Given the description of an element on the screen output the (x, y) to click on. 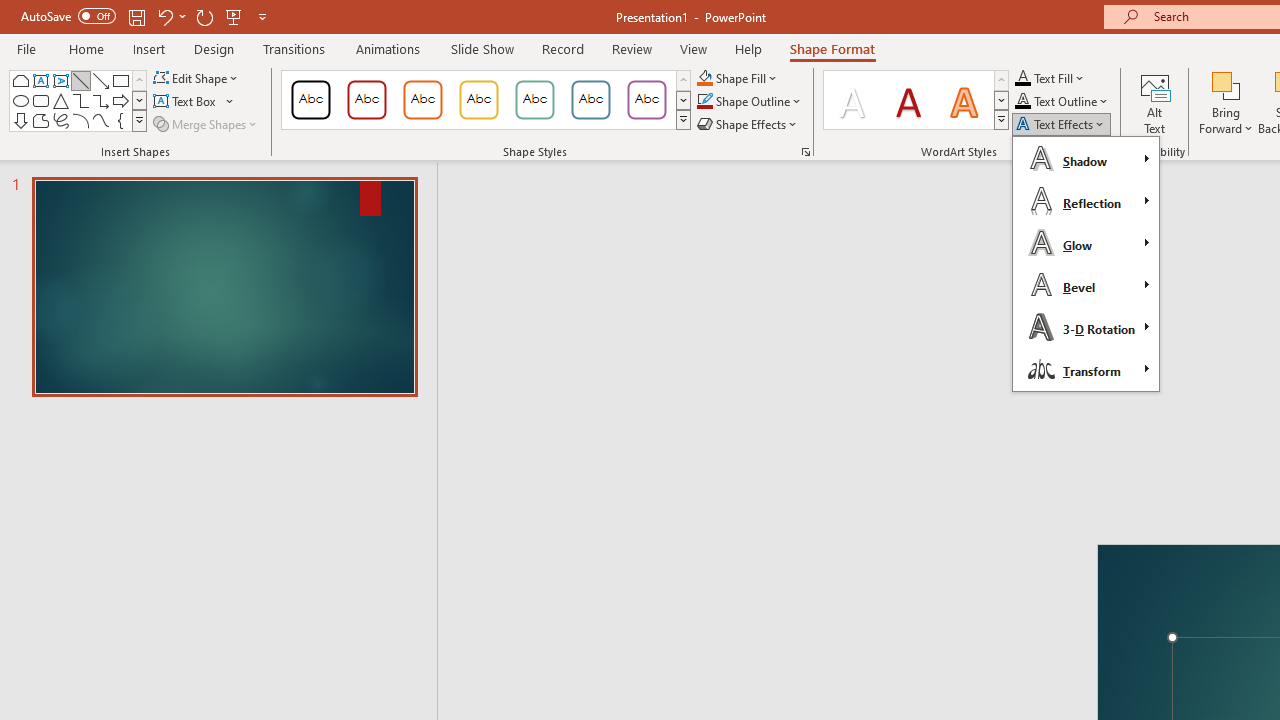
Draw Horizontal Text Box (185, 101)
Fill: White, Text color 1; Shadow (852, 100)
Rectangle: Top Corners Snipped (20, 80)
